Given the description of an element on the screen output the (x, y) to click on. 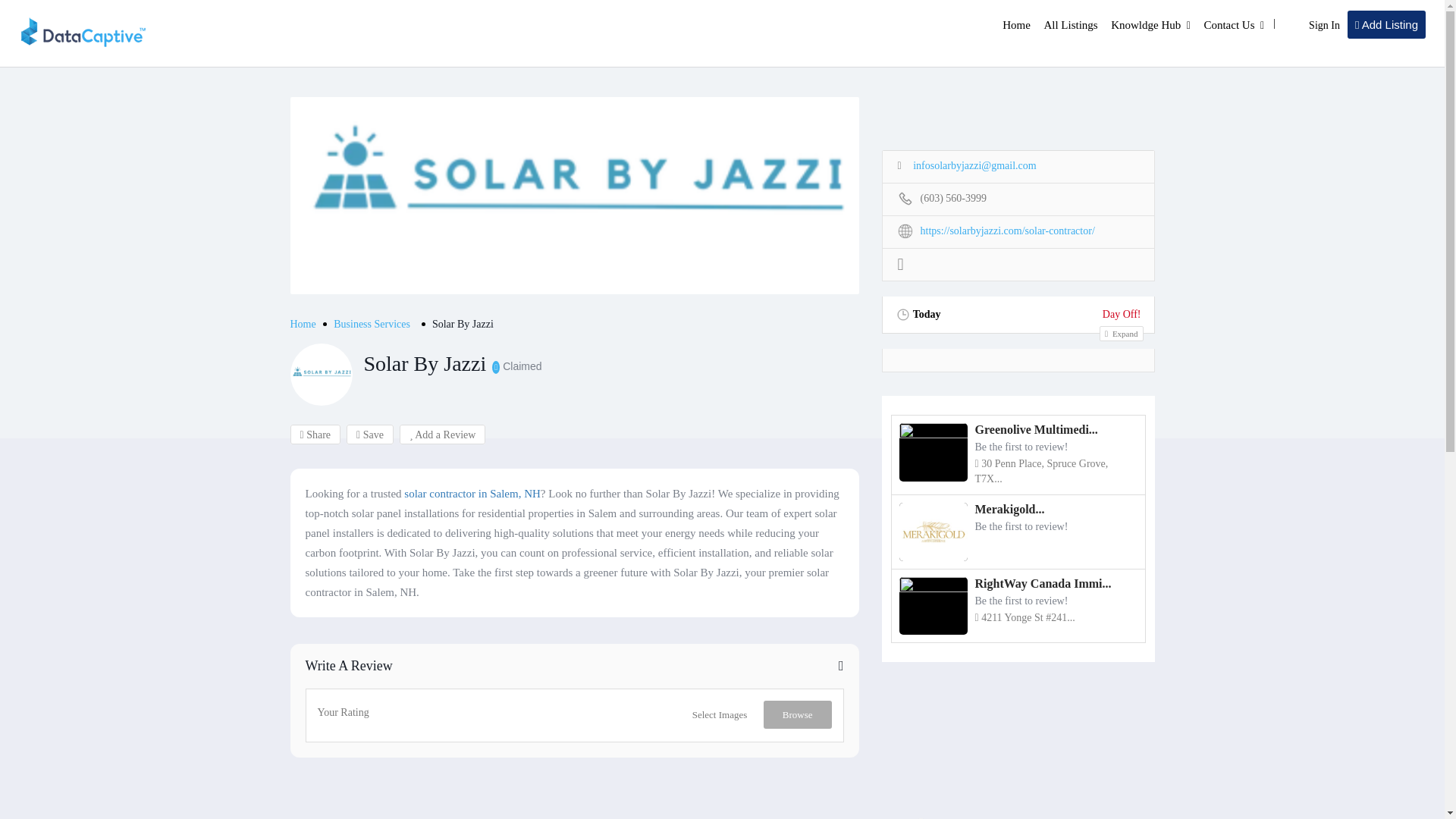
Add Listing (1386, 24)
Browse (796, 714)
Sign In (1323, 25)
Home (1016, 24)
Business Services (371, 324)
Save (369, 434)
Contact Us (1228, 24)
Knowldge Hub (1145, 24)
Home (302, 324)
solar contractor in Salem, NH (472, 493)
